Given the description of an element on the screen output the (x, y) to click on. 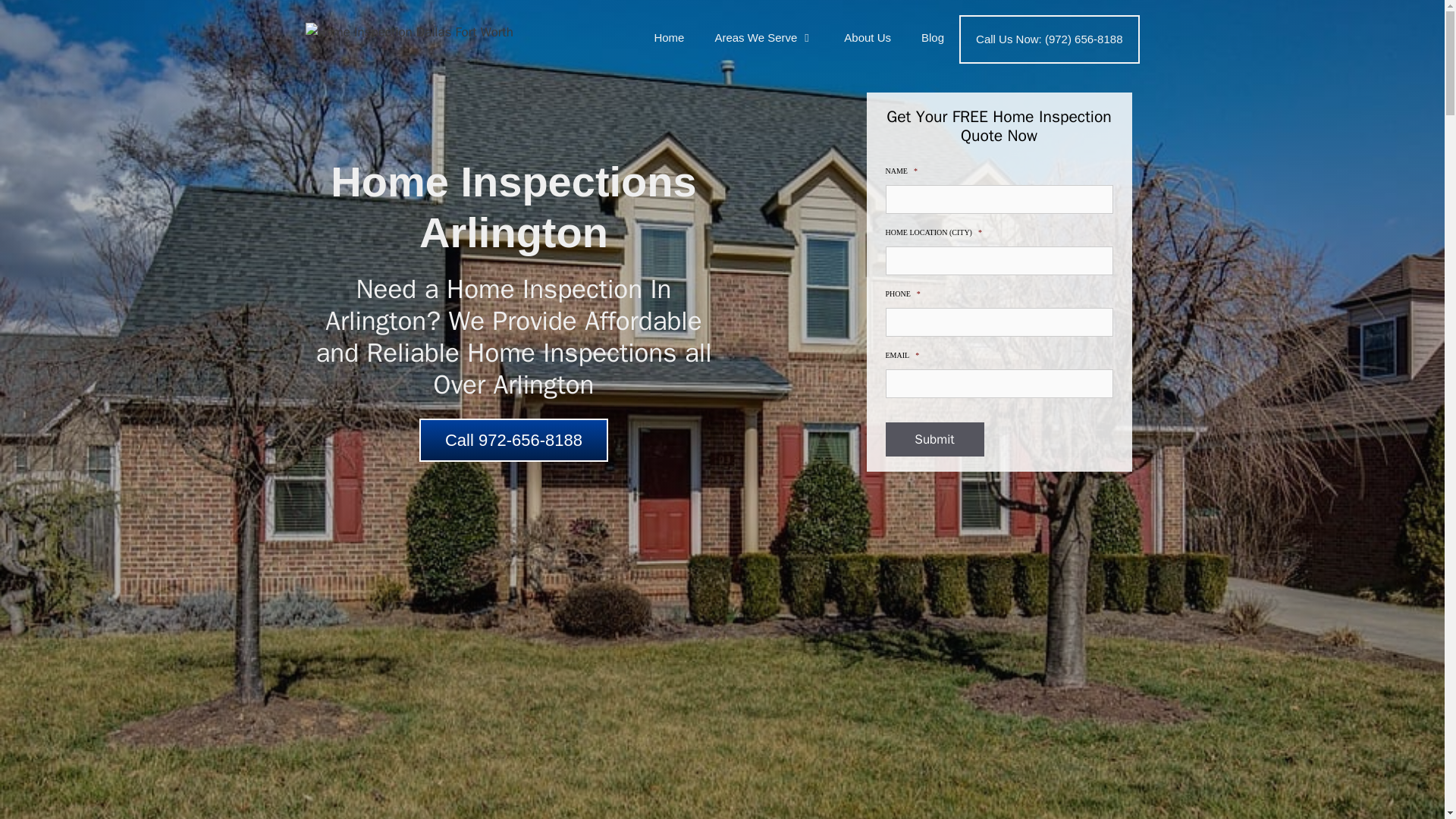
Submit (934, 438)
Areas We Serve (763, 37)
Home (668, 37)
